Given the description of an element on the screen output the (x, y) to click on. 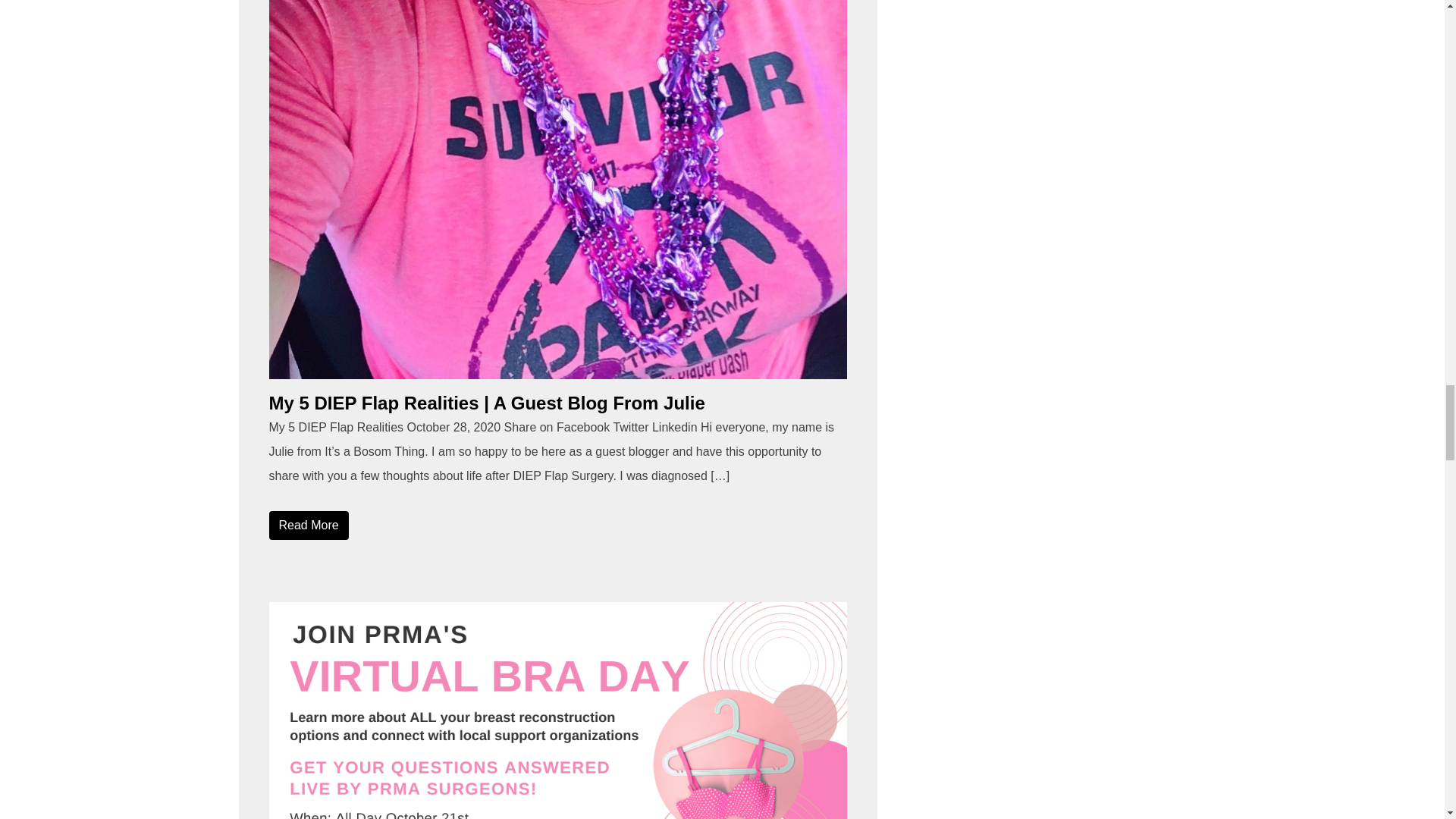
bra day 2020 (557, 710)
